Given the description of an element on the screen output the (x, y) to click on. 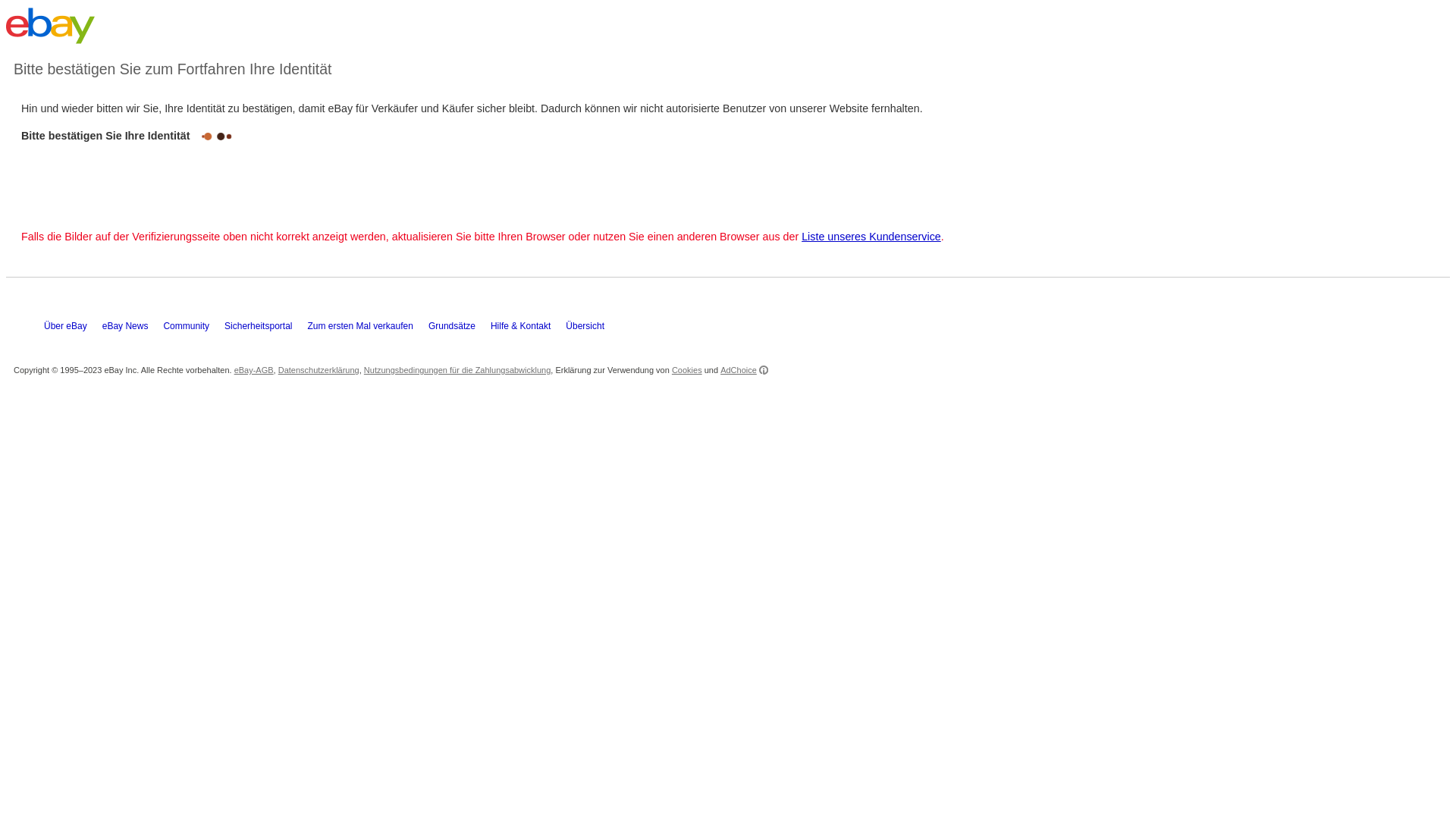
eBay News Element type: text (132, 268)
eBay-AGB Element type: text (253, 308)
AdChoice Element type: text (744, 308)
Cookies Element type: text (686, 308)
Hilfe & Kontakt Element type: text (527, 268)
Sicherheitsportal Element type: text (265, 268)
Widget containing checkbox for hCaptcha security challenge Element type: hover (128, 178)
Community Element type: text (193, 268)
Liste unseres Kundenservice Element type: text (871, 175)
Zum ersten Mal verkaufen Element type: text (367, 268)
